Given the description of an element on the screen output the (x, y) to click on. 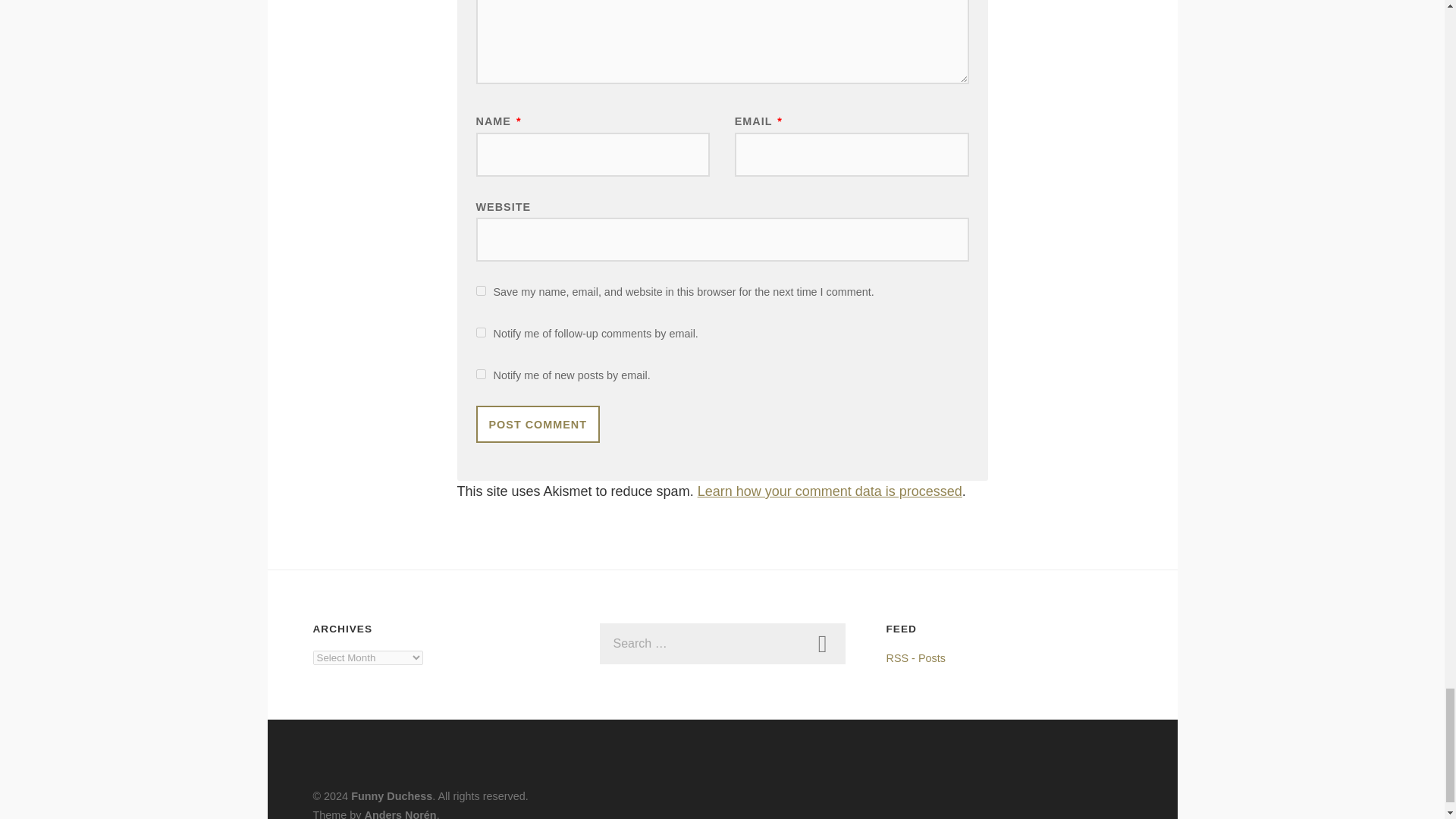
Funny Duchess (391, 796)
Search (821, 643)
subscribe (481, 374)
Learn how your comment data is processed (829, 491)
RSS - Posts (914, 657)
Subscribe to posts (914, 657)
subscribe (481, 332)
Search (821, 643)
Post Comment (537, 424)
Search (821, 643)
